Given the description of an element on the screen output the (x, y) to click on. 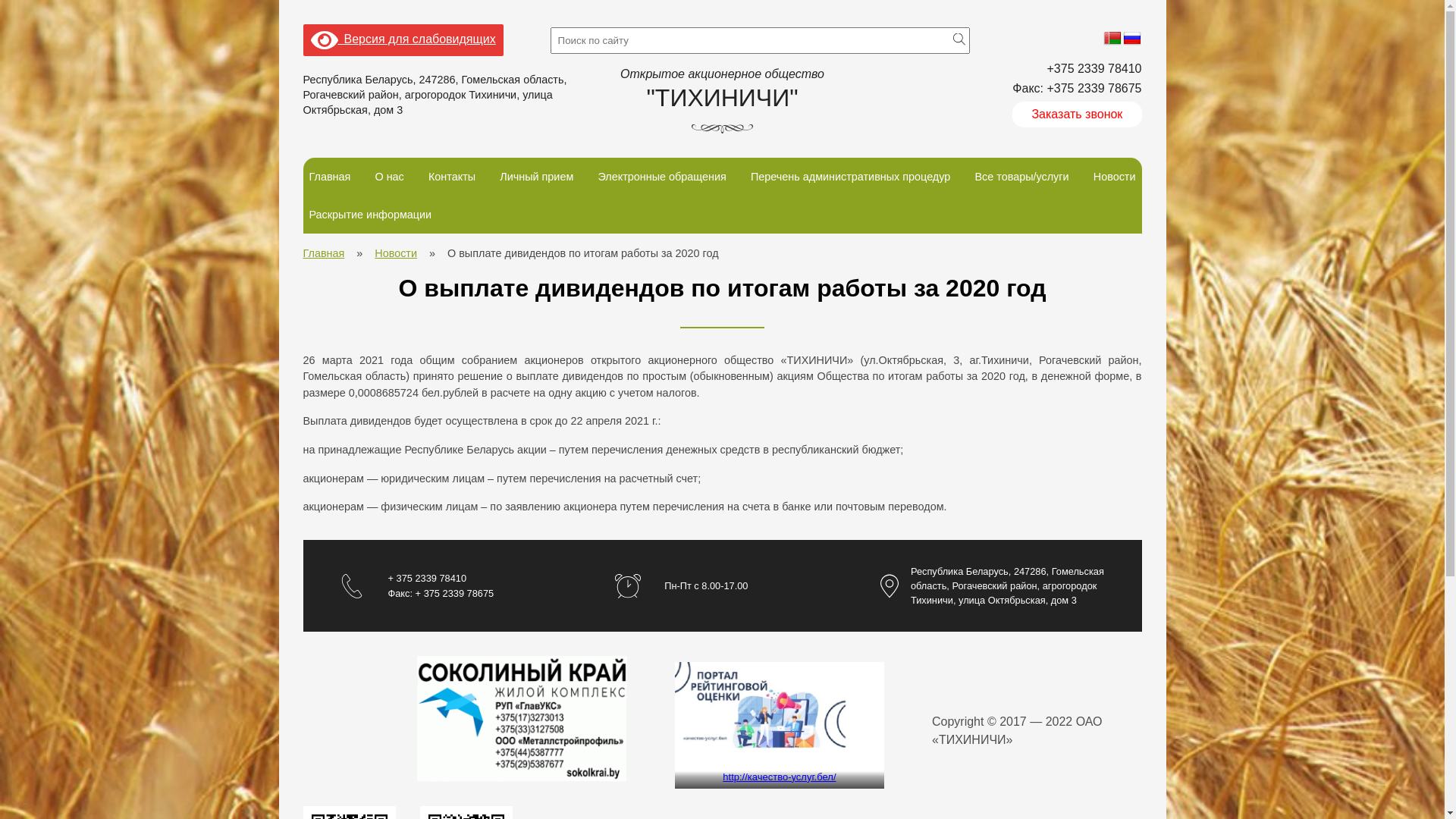
+ 375 2339 78410 Element type: text (441, 578)
Russian Element type: hover (1132, 38)
+375 2339 78410 Element type: text (1076, 68)
Belarusian Element type: hover (1112, 38)
